Given the description of an element on the screen output the (x, y) to click on. 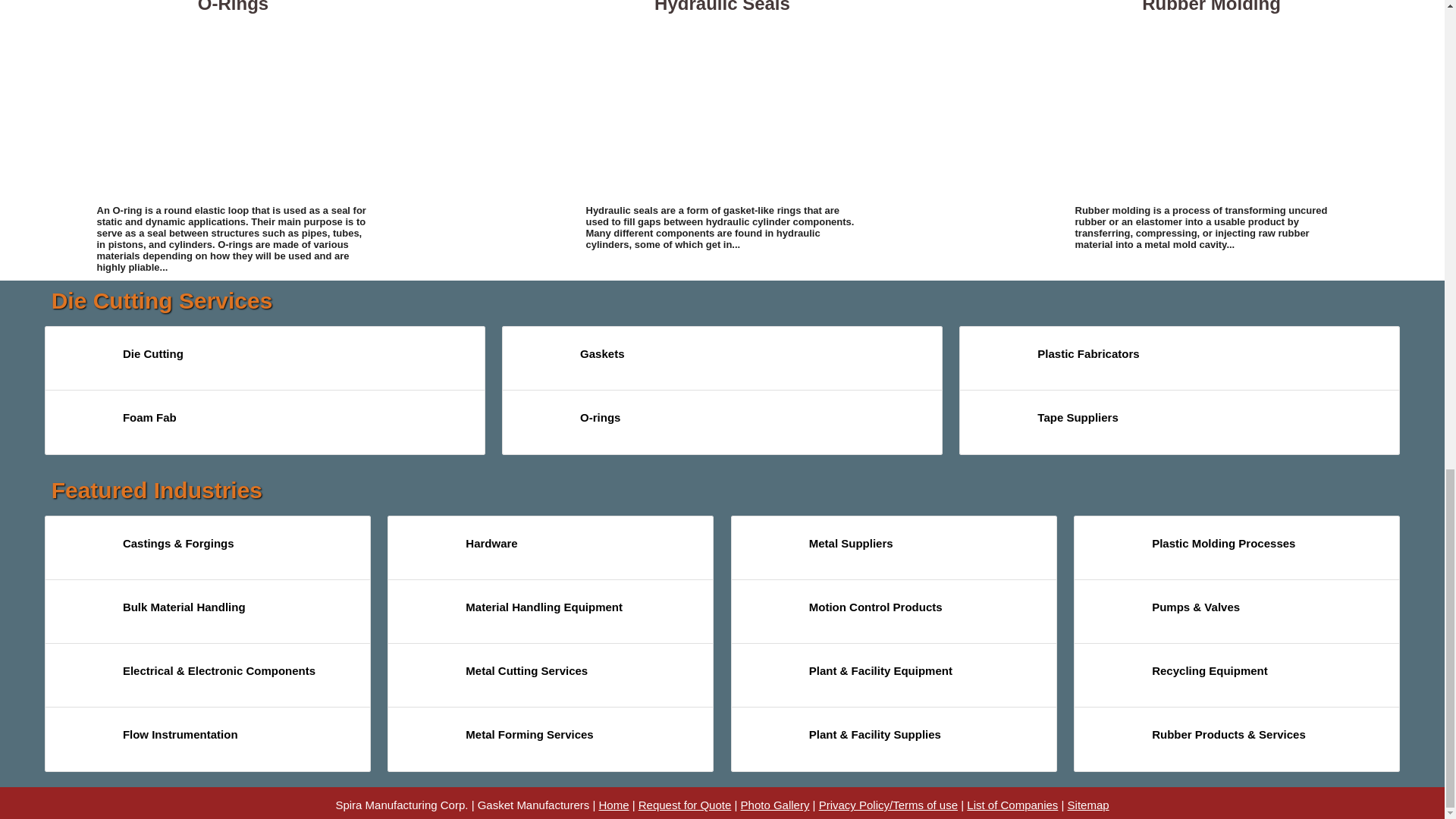
Gaskets (541, 361)
Die Cutting (84, 361)
Foam Fabricating (84, 425)
O-Rings (233, 108)
Hydraulic Seals (722, 108)
Rubber Molding (1211, 108)
O-rings Manufacturers (541, 425)
